Given the description of an element on the screen output the (x, y) to click on. 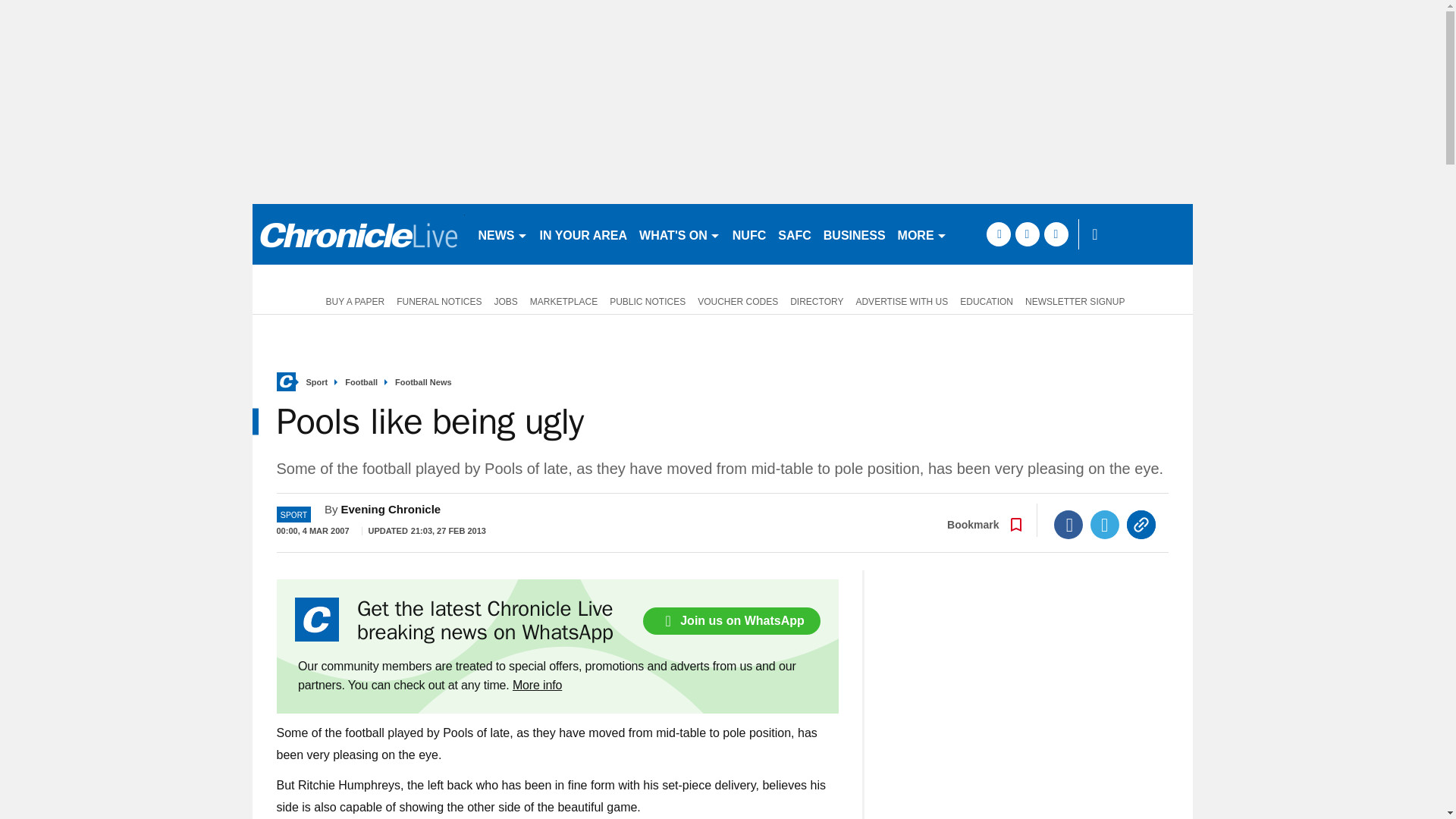
WHAT'S ON (679, 233)
facebook (997, 233)
Facebook (1068, 524)
MORE (922, 233)
twitter (1026, 233)
IN YOUR AREA (583, 233)
instagram (1055, 233)
nechronicle (357, 233)
BUSINESS (853, 233)
Twitter (1104, 524)
NEWS (501, 233)
